Given the description of an element on the screen output the (x, y) to click on. 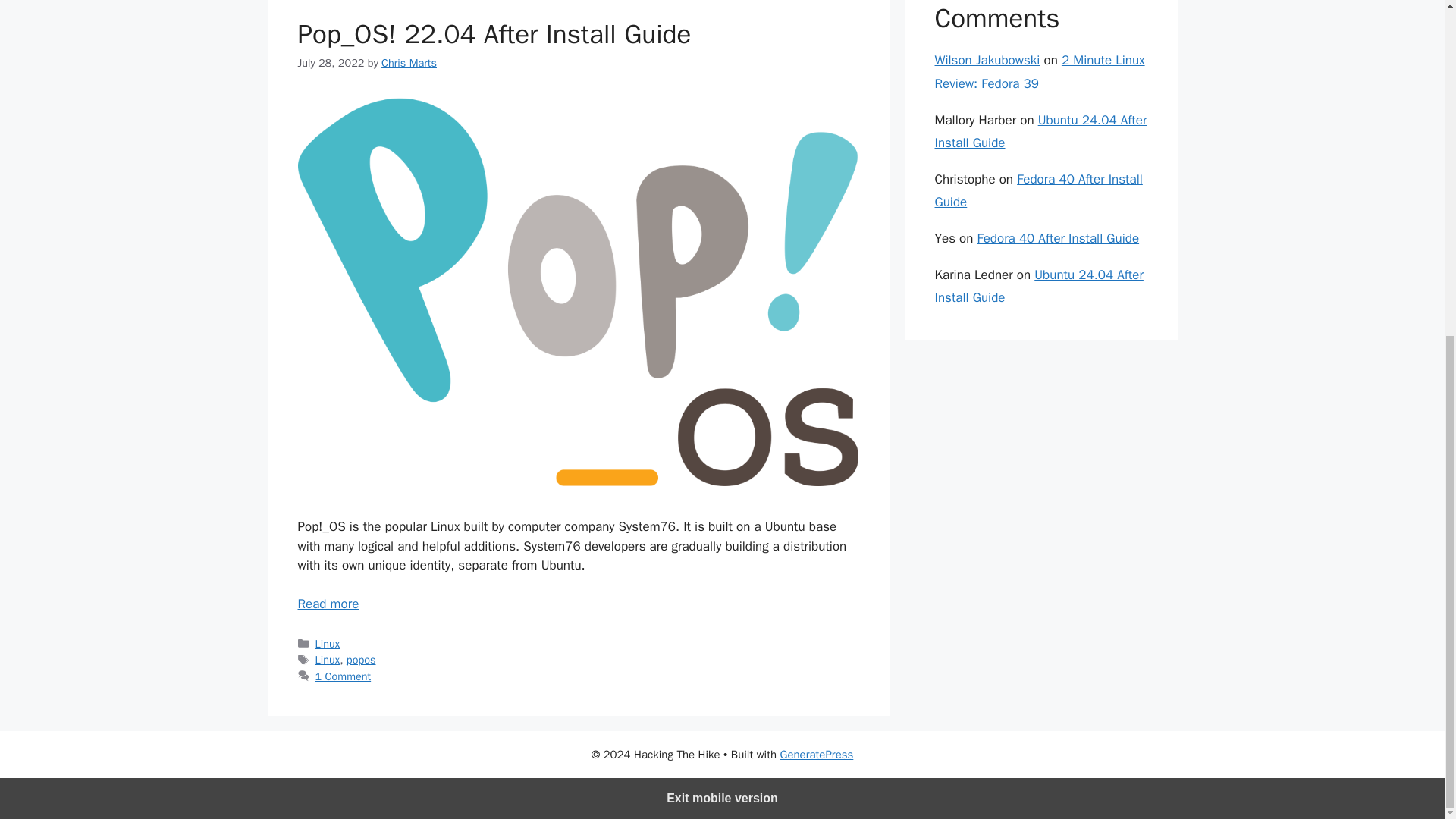
2 Minute Linux Review: Fedora 39 (1039, 71)
Read more (327, 603)
Fedora 40 After Install Guide (1058, 238)
1 Comment (343, 676)
Ubuntu 24.04 After Install Guide (1040, 131)
Ubuntu 24.04 After Install Guide (1038, 286)
Linux (327, 659)
popos (360, 659)
Wilson Jakubowski (986, 59)
Linux (327, 643)
